Given the description of an element on the screen output the (x, y) to click on. 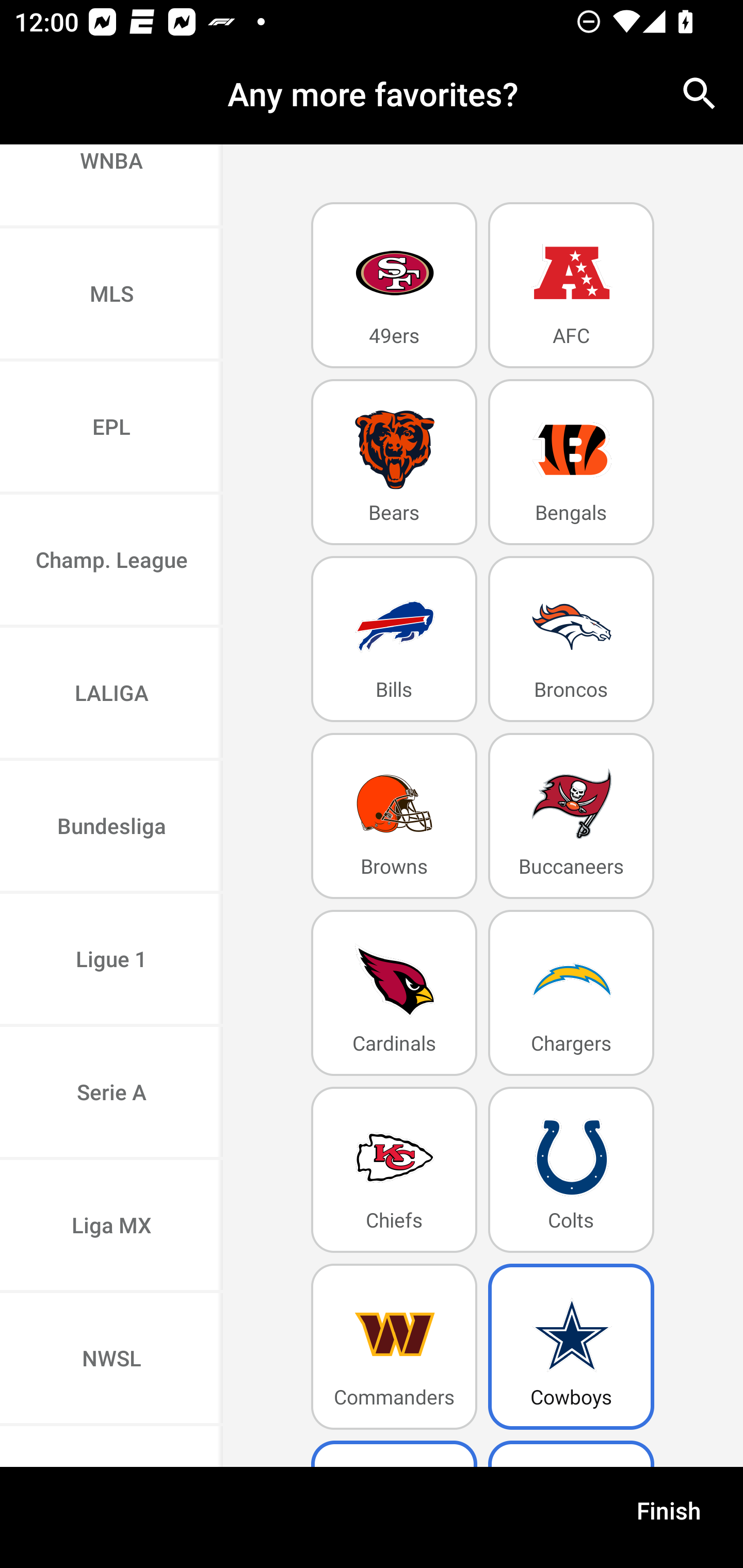
search (699, 93)
WNBA (111, 186)
49ers (394, 285)
AFC (571, 285)
MLS (111, 295)
EPL (111, 428)
Bears (394, 462)
Bengals (571, 462)
Champ. League (111, 560)
Bills (394, 639)
Broncos (571, 639)
LALIGA (111, 694)
Browns (394, 815)
Buccaneers (571, 815)
Bundesliga (111, 826)
Ligue 1 (111, 960)
Cardinals (394, 992)
Chargers (571, 992)
Serie A (111, 1093)
Chiefs (394, 1169)
Colts (571, 1169)
Liga MX (111, 1226)
Commanders (394, 1346)
Cowboys CowboysSelected (571, 1346)
NWSL (111, 1359)
Finish Finish and Close (669, 1517)
